Given the description of an element on the screen output the (x, y) to click on. 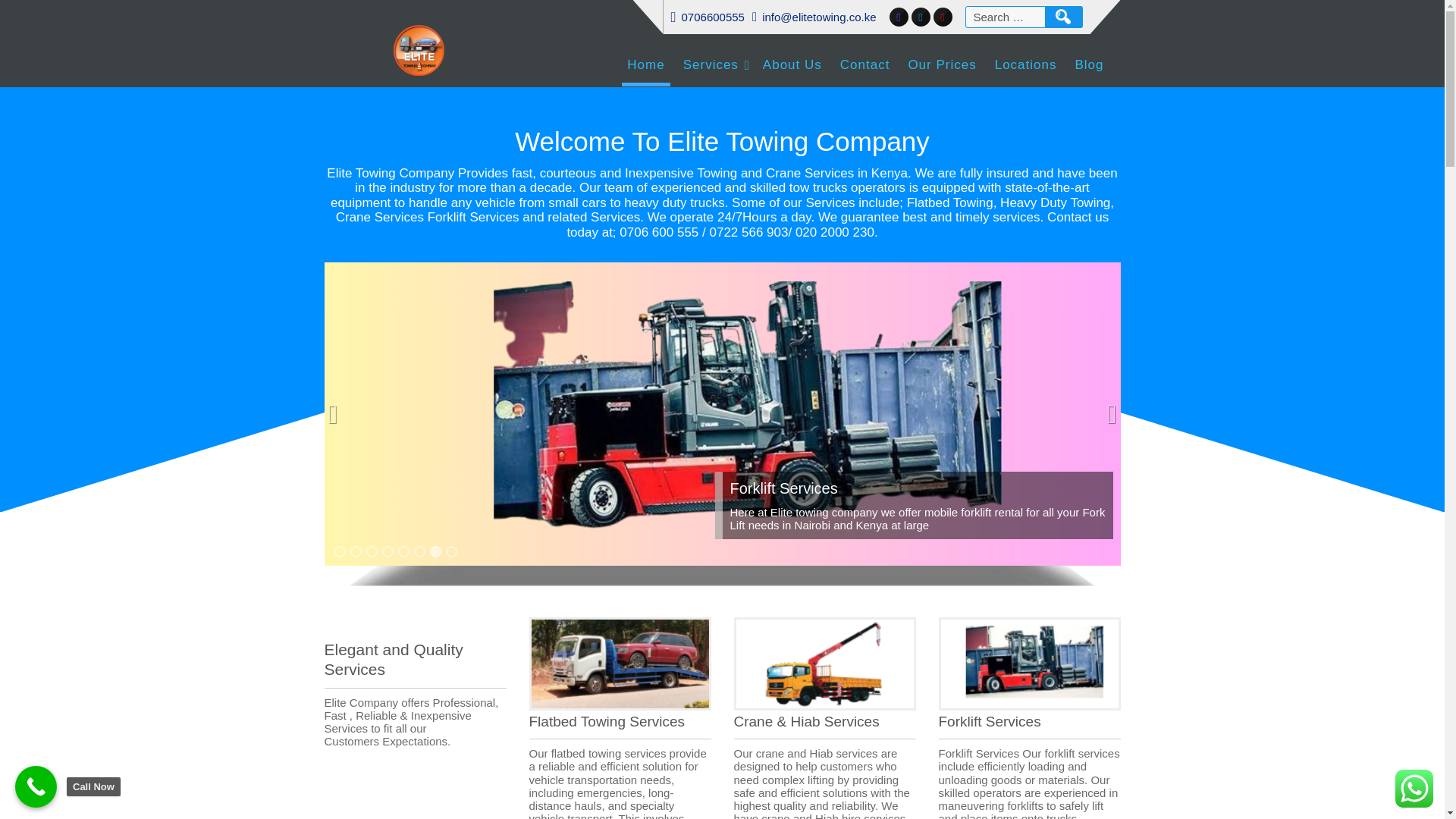
Home (645, 66)
Locations (1026, 66)
Search (1064, 16)
Contact (864, 66)
Elegant and Quality Services (415, 664)
About Us (792, 66)
Blog (1088, 66)
Forklift Services (1030, 720)
Search (1064, 16)
Services (713, 66)
Search (1064, 16)
0706600555 (712, 16)
Flatbed Towing Services (620, 720)
Our Prices (941, 66)
